Given the description of an element on the screen output the (x, y) to click on. 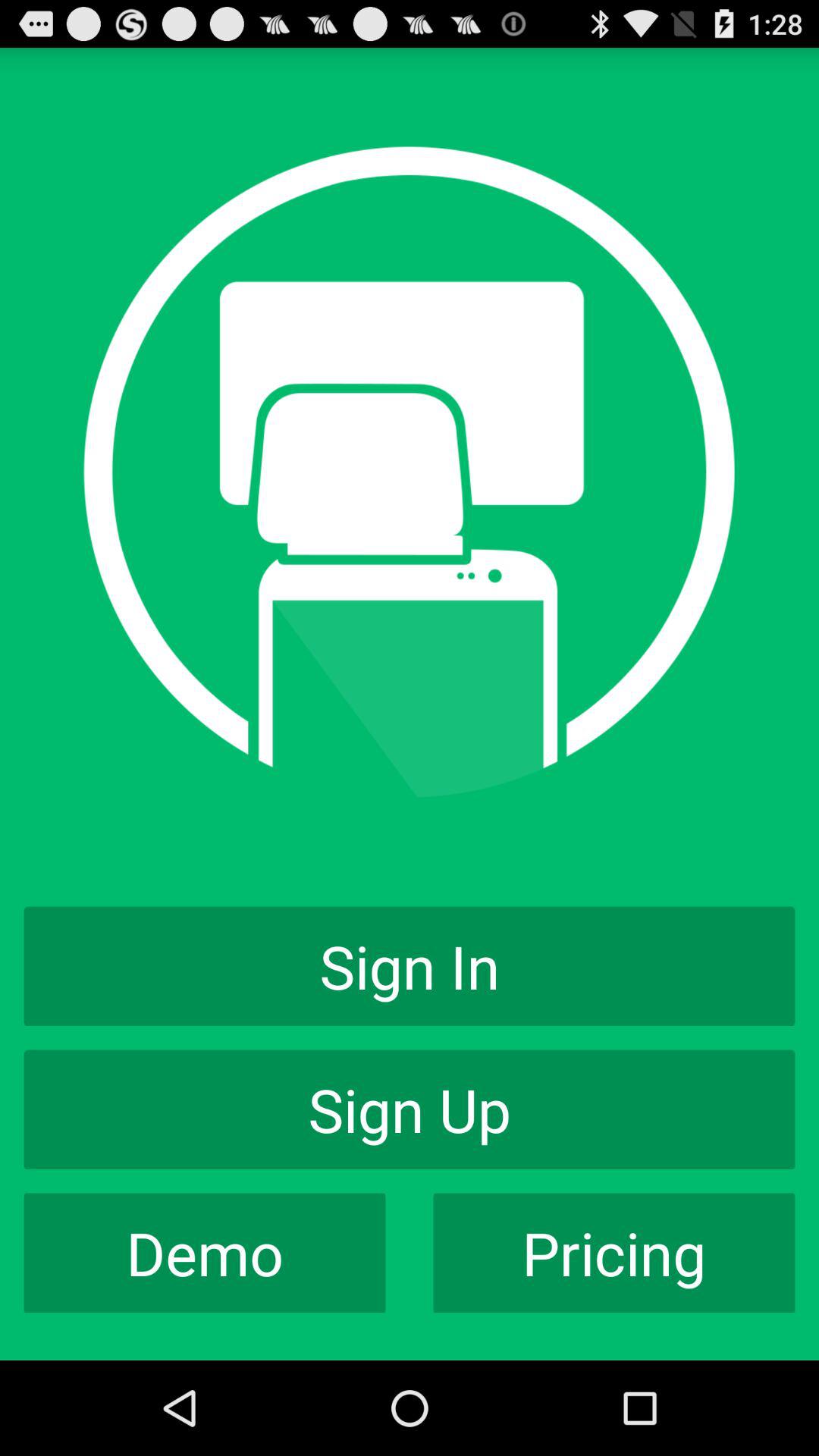
jump until the sign in item (409, 966)
